Given the description of an element on the screen output the (x, y) to click on. 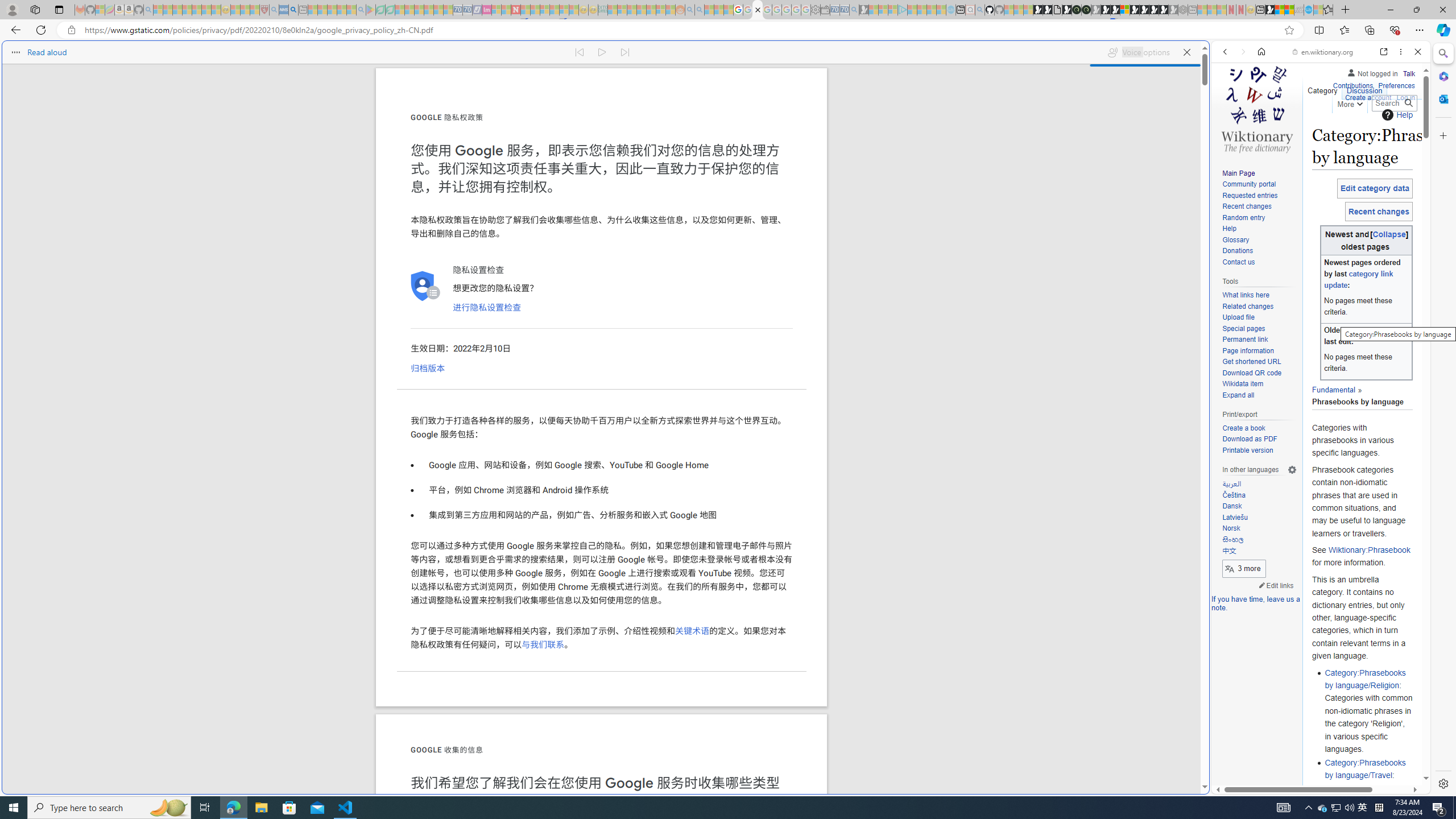
category link update (1358, 279)
Phrasebooks by language (1357, 395)
Download as PDF (1248, 438)
Norsk (1230, 528)
Related changes (1259, 306)
